Given the description of an element on the screen output the (x, y) to click on. 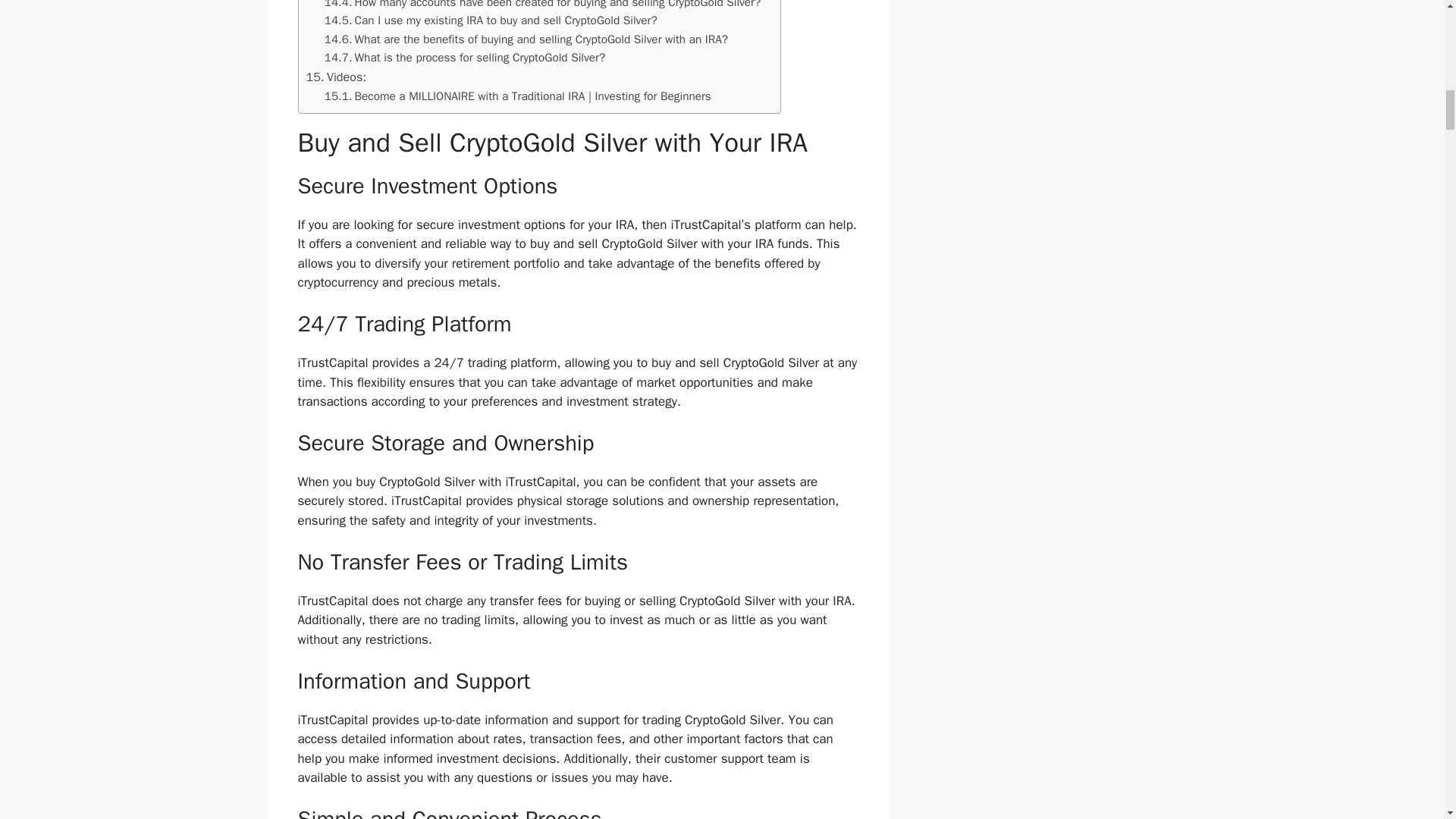
Can I use my existing IRA to buy and sell CryptoGold Silver? (491, 20)
What is the process for selling CryptoGold Silver? (464, 57)
